Given the description of an element on the screen output the (x, y) to click on. 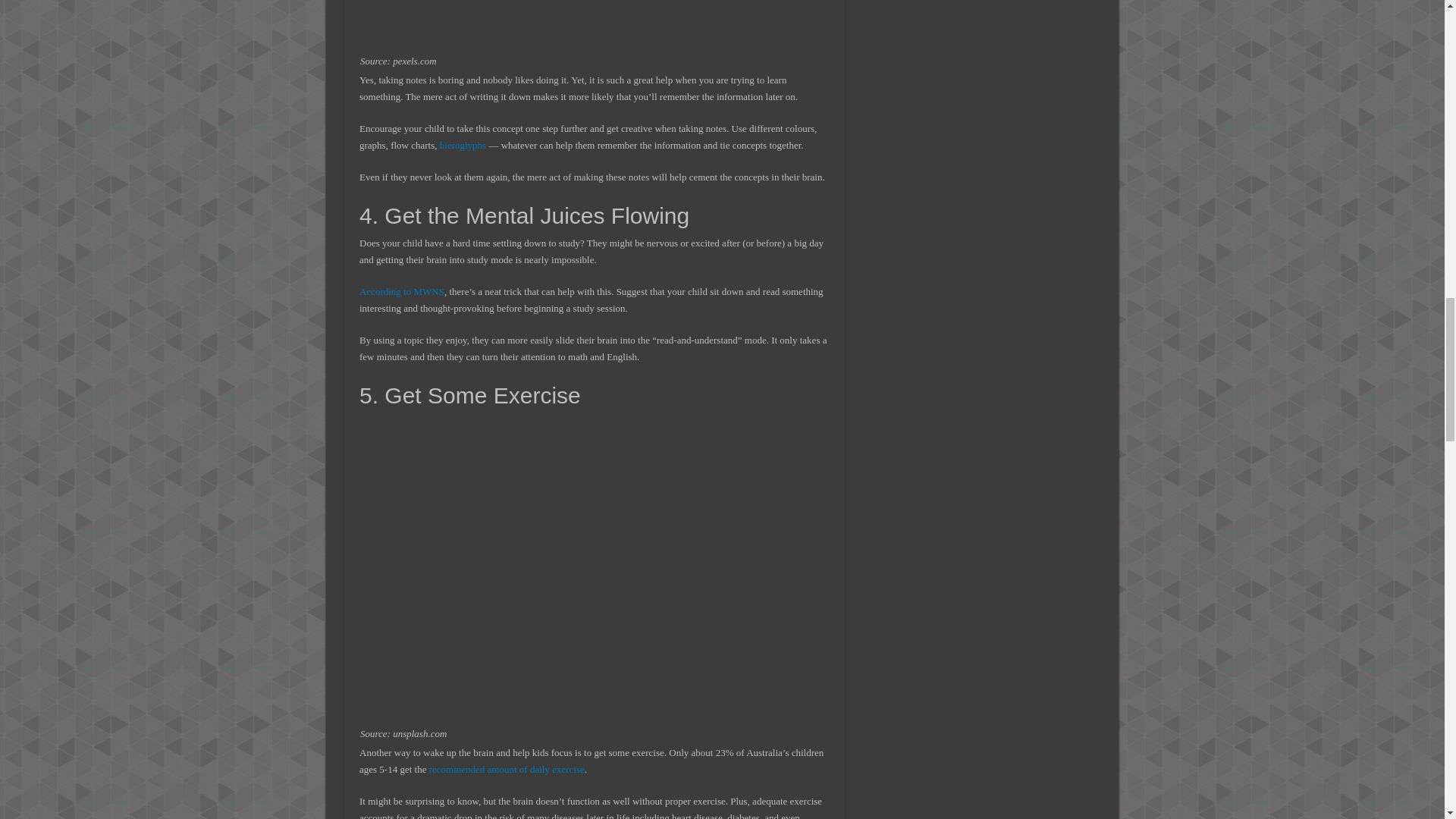
hieroglyphs (462, 144)
recommended amount of daily exercise (507, 768)
According to MWNS (401, 291)
